Given the description of an element on the screen output the (x, y) to click on. 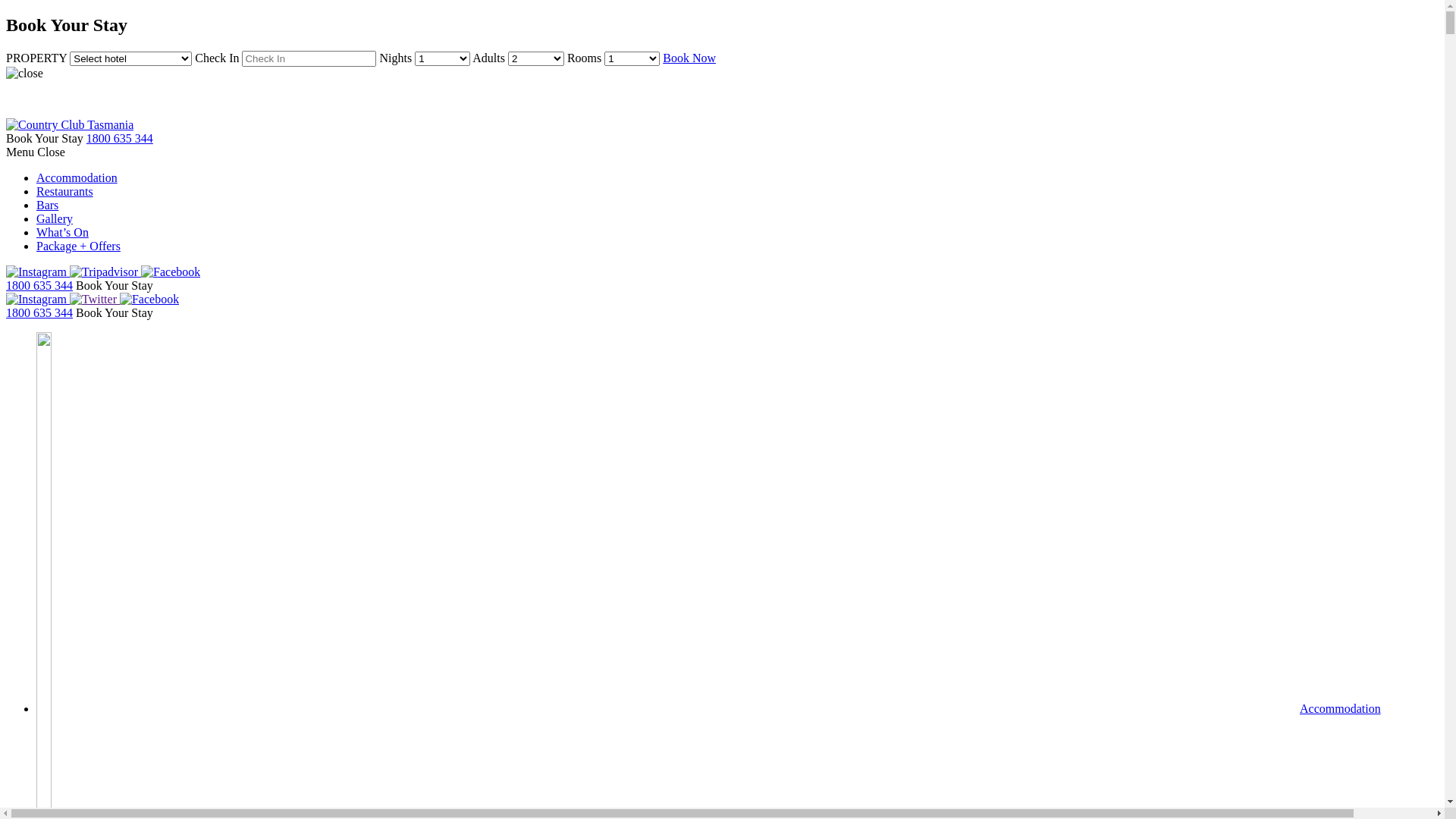
Book Your Stay Element type: text (44, 137)
Accommodation Element type: text (708, 708)
Gallery Element type: text (54, 218)
Accommodation Element type: text (76, 177)
Package + Offers Element type: text (78, 245)
Restaurants Element type: text (64, 191)
Book Your Stay Element type: text (114, 285)
Book Your Stay Element type: text (114, 312)
Bars Element type: text (47, 204)
1800 635 344 Element type: text (39, 285)
Country Club Tasmania Element type: hover (69, 124)
1800 635 344 Element type: text (119, 137)
1800 635 344 Element type: text (39, 312)
Book Now Element type: text (688, 57)
Menu Close Element type: text (35, 151)
click here Element type: text (261, 98)
